Given the description of an element on the screen output the (x, y) to click on. 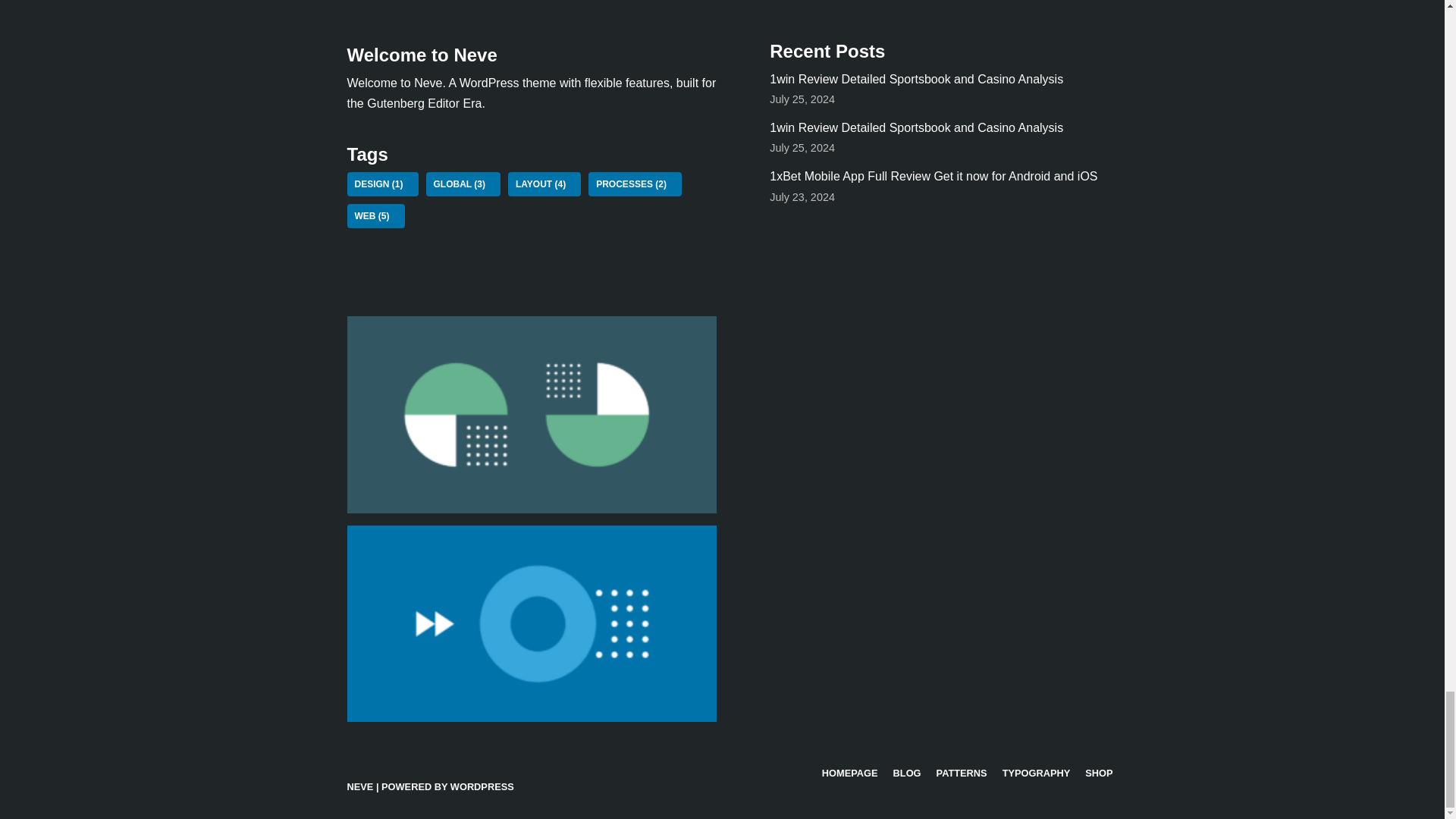
1xBet Mobile App Full Review Get it now for Android and iOS (933, 175)
NEVE (360, 786)
WORDPRESS (481, 786)
1win Review Detailed Sportsbook and Casino Analysis (916, 127)
1win Review Detailed Sportsbook and Casino Analysis (916, 78)
